Given the description of an element on the screen output the (x, y) to click on. 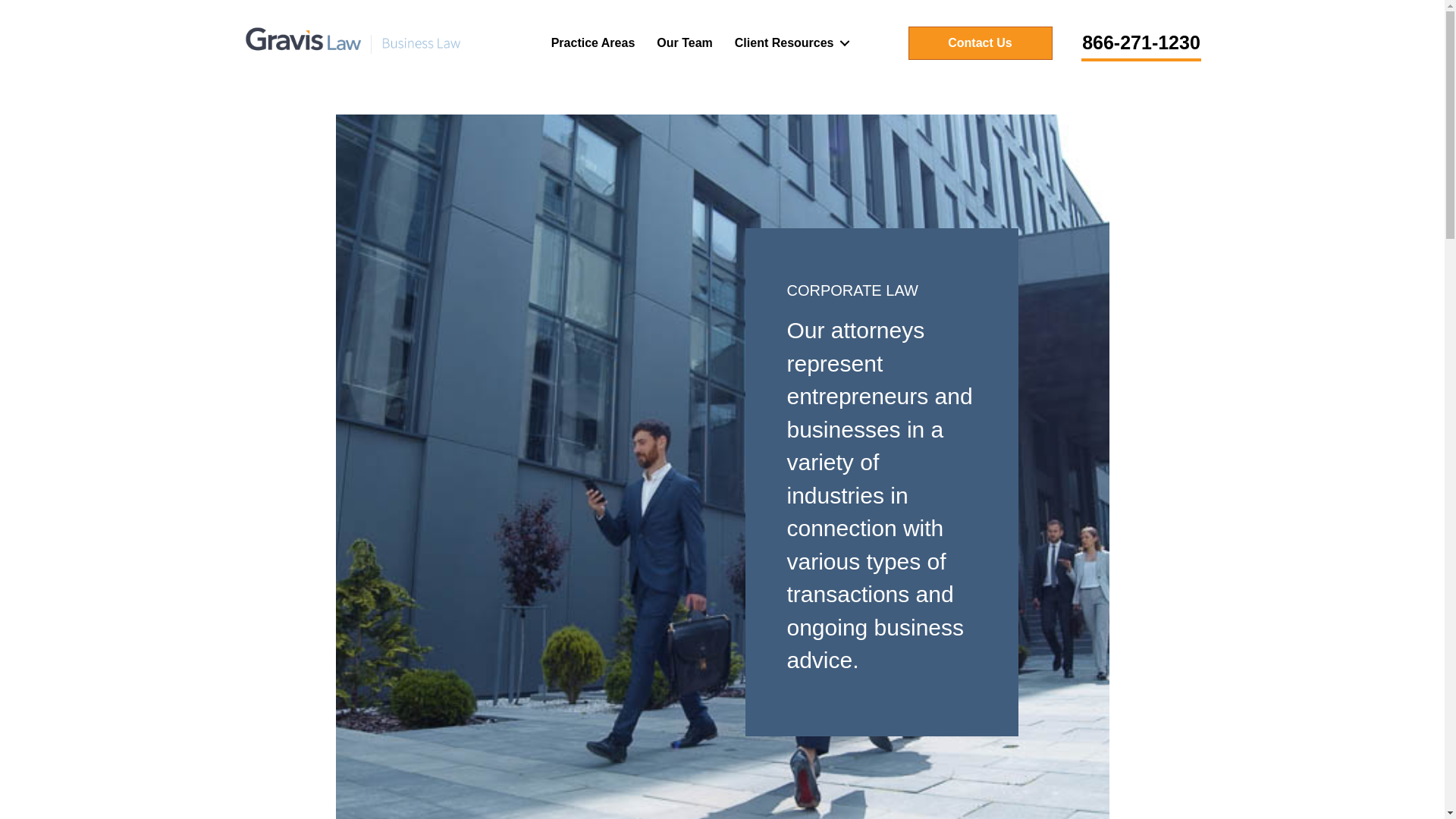
Our Team (684, 42)
Client Resources (789, 42)
Contact Us (980, 42)
Practice Areas (593, 42)
866-271-1230 (1141, 43)
